Given the description of an element on the screen output the (x, y) to click on. 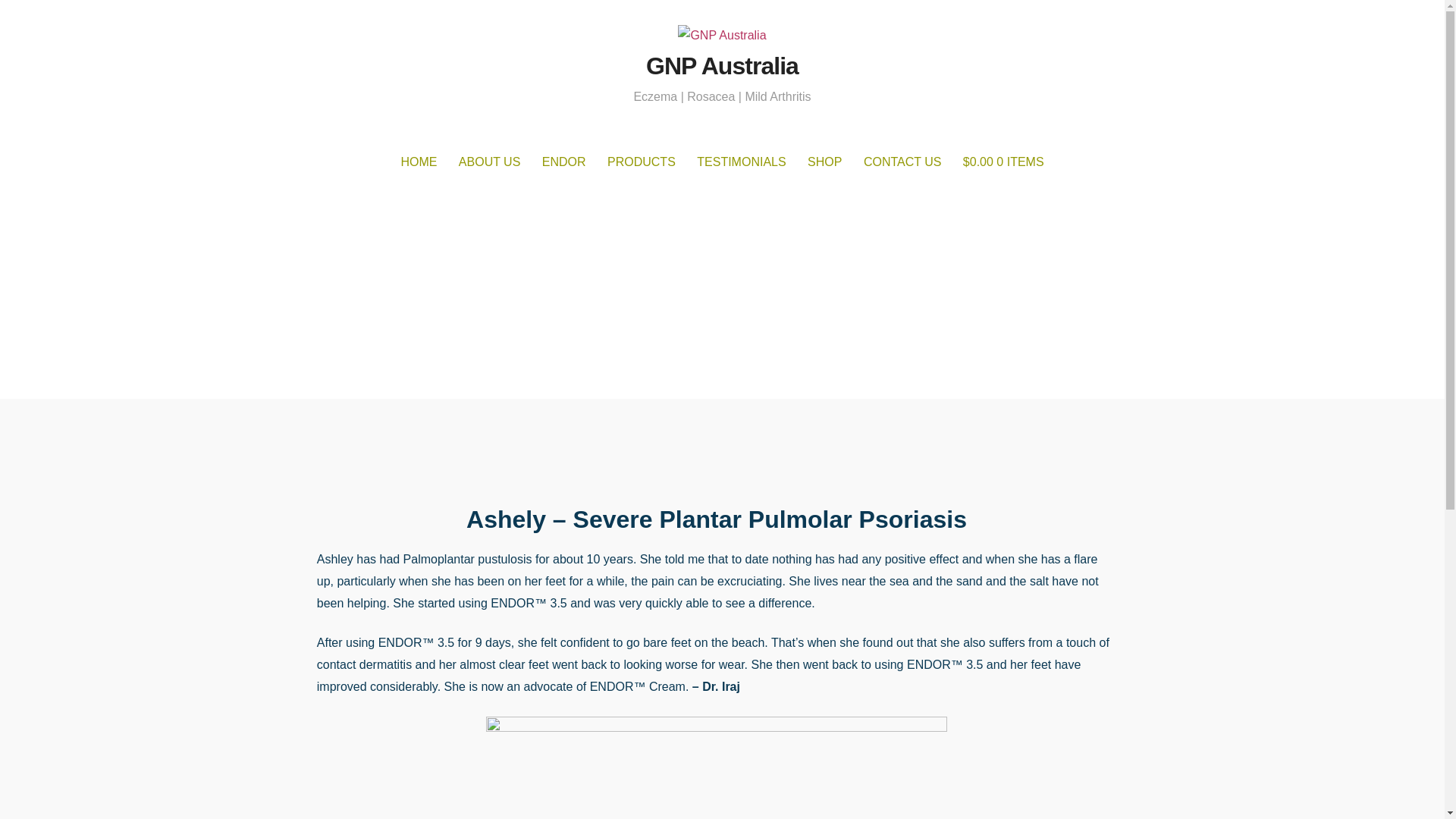
TESTIMONIALS (740, 162)
GNP Australia (721, 65)
PRODUCTS (641, 162)
CONTACT US (902, 162)
ENDOR (563, 162)
ABOUT US (489, 162)
SHOP (823, 162)
HOME (418, 162)
